Given the description of an element on the screen output the (x, y) to click on. 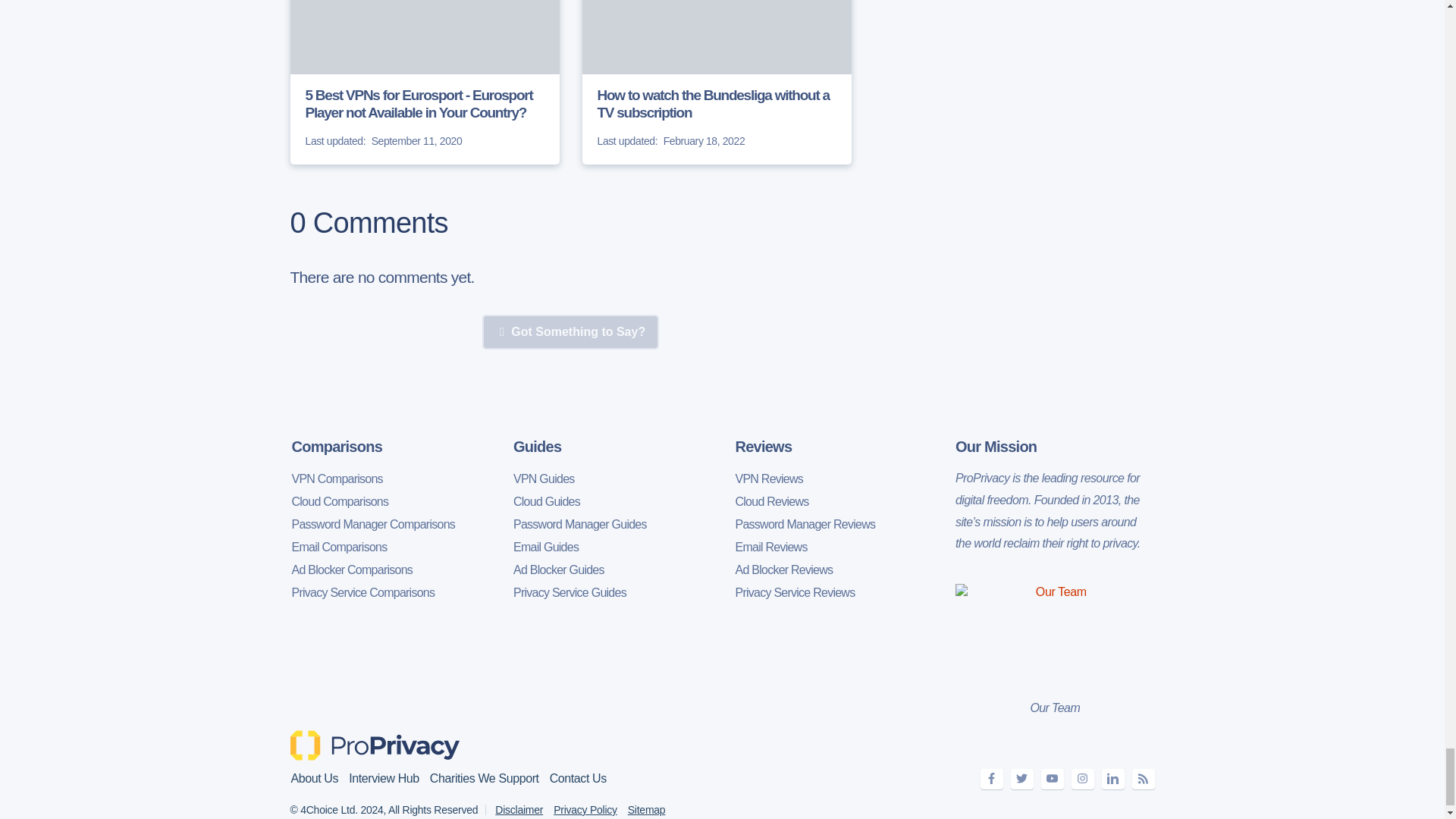
Facebook Page (991, 779)
YouTube Channel (1051, 779)
Instagram Profile (1081, 779)
Our Team (1054, 633)
Welcome to ProPrivacy! (376, 745)
Last Updated Date (334, 141)
Last Updated Date (627, 141)
Twitter Profile (1021, 779)
